Given the description of an element on the screen output the (x, y) to click on. 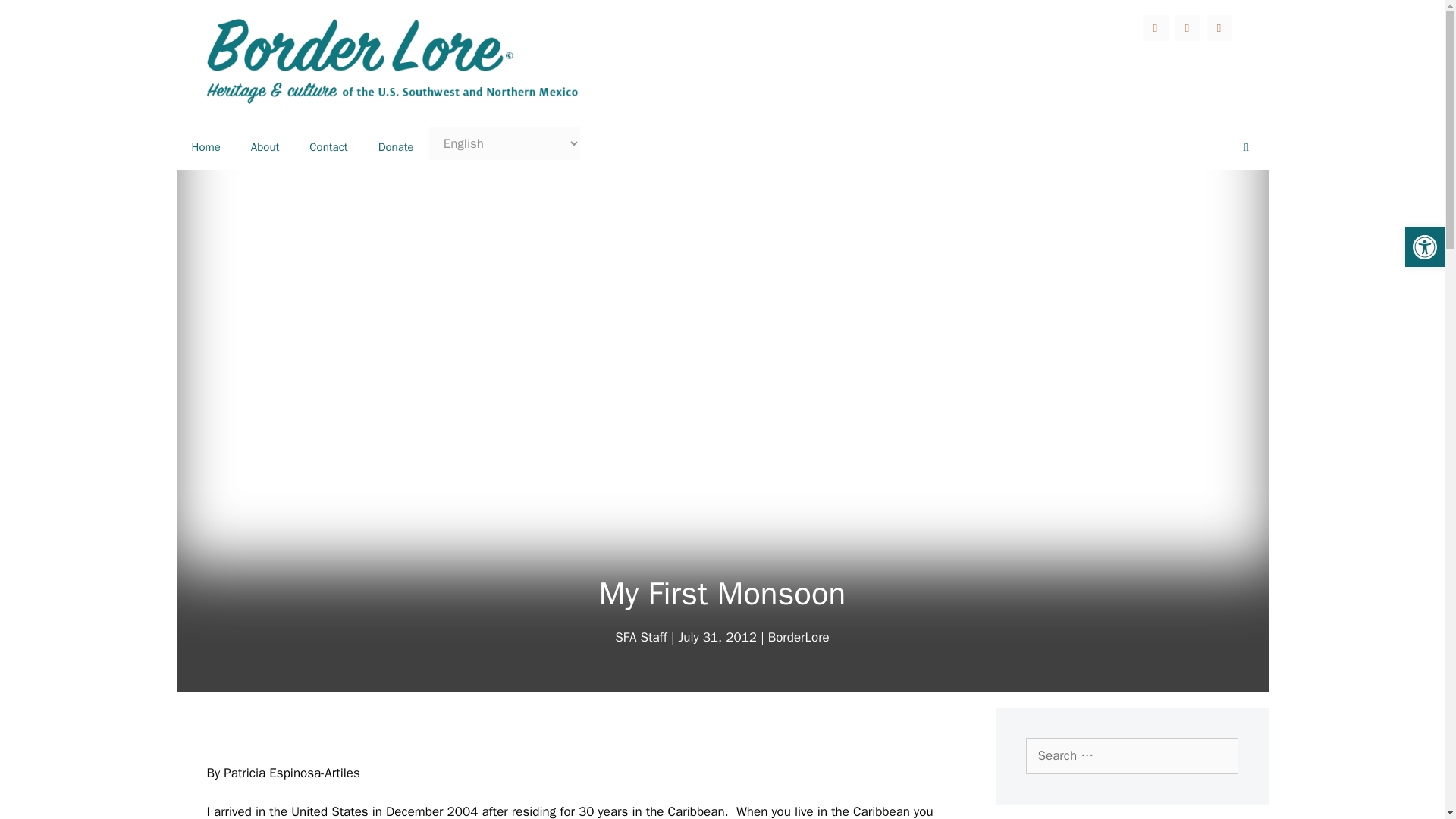
View all posts by SFA Staff (640, 637)
Facebook (1154, 27)
Accessibility Tools (1424, 247)
BorderLore (798, 637)
Home (205, 146)
About (264, 146)
Contact (328, 146)
Search (34, 16)
Search for: (1131, 755)
Donate (395, 146)
Instagram (1218, 27)
SFA Staff (640, 637)
Twitter (1186, 27)
